Given the description of an element on the screen output the (x, y) to click on. 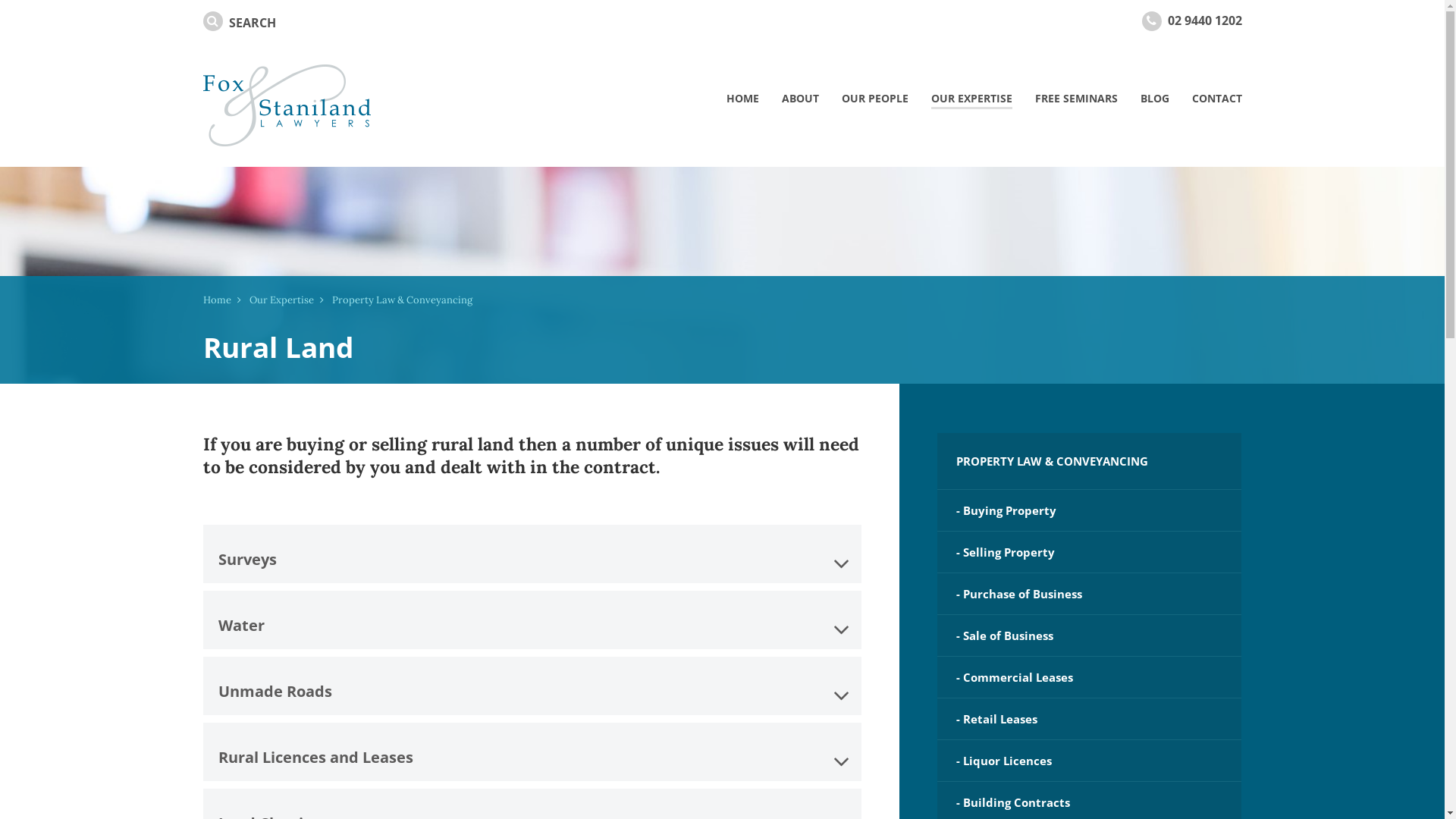
HOME Element type: text (741, 98)
Rural Licences and Leases Element type: text (532, 751)
Unmade Roads Element type: text (532, 685)
FREE SEMINARS Element type: text (1076, 98)
PROPERTY LAW & CONVEYANCING Element type: text (1089, 461)
Home Element type: text (217, 299)
- Buying Property Element type: text (1089, 509)
- Sale of Business Element type: text (1089, 635)
Property Law & Conveyancing Element type: text (402, 299)
Water Element type: text (532, 619)
OUR EXPERTISE Element type: text (970, 98)
- Selling Property Element type: text (1089, 551)
02 9440 1202 Element type: text (1204, 20)
BLOG Element type: text (1153, 98)
- Liquor Licences Element type: text (1089, 760)
OUR PEOPLE Element type: text (874, 98)
Surveys Element type: text (532, 553)
Our Expertise Element type: text (280, 299)
- Retail Leases Element type: text (1089, 718)
ABOUT Element type: text (800, 98)
CONTACT Element type: text (1215, 98)
- Commercial Leases Element type: text (1089, 676)
- Purchase of Business Element type: text (1089, 593)
